Given the description of an element on the screen output the (x, y) to click on. 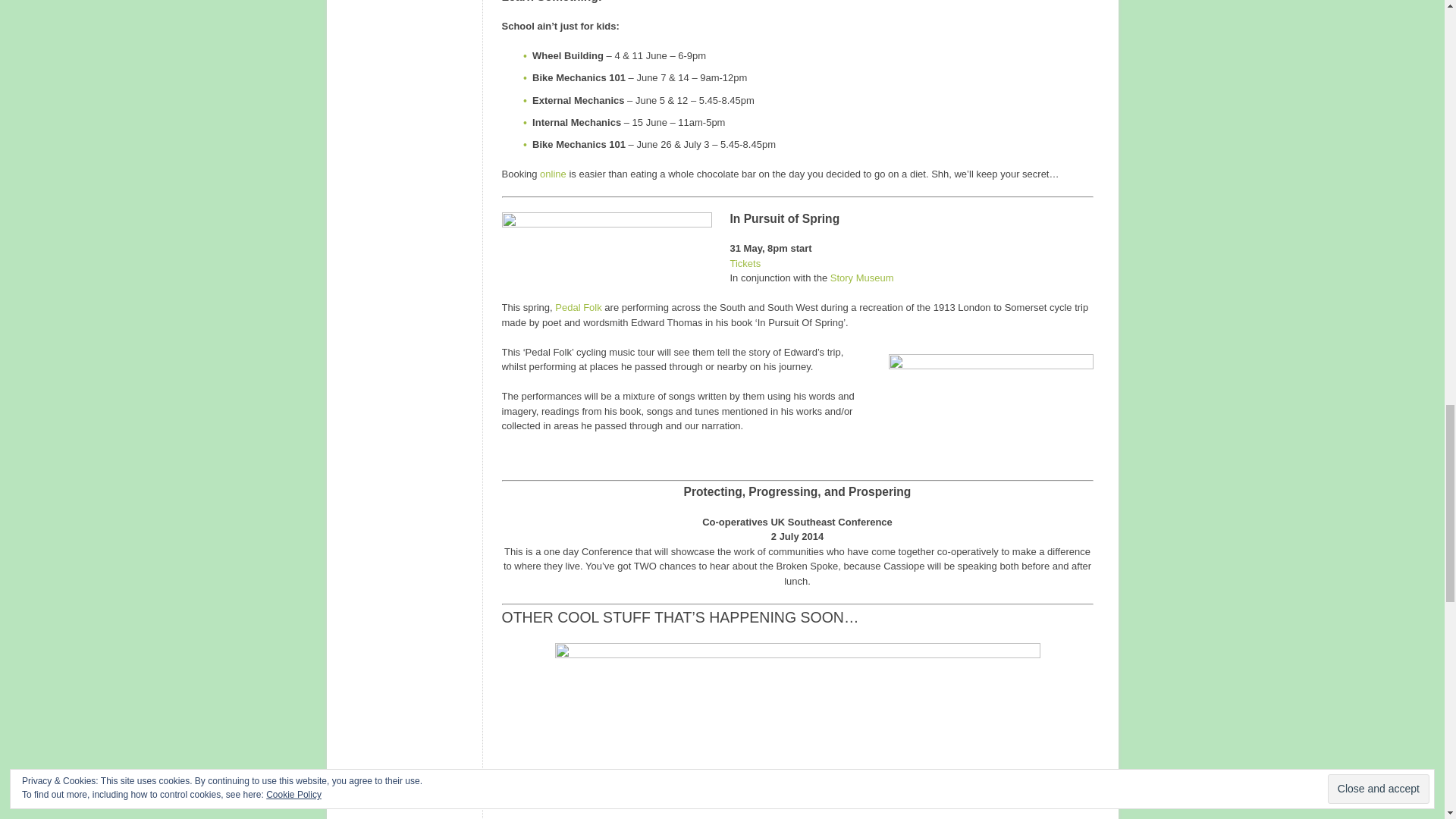
Pedal Folk (577, 307)
Story Museum (861, 277)
online (553, 173)
Tickets (744, 263)
